Given the description of an element on the screen output the (x, y) to click on. 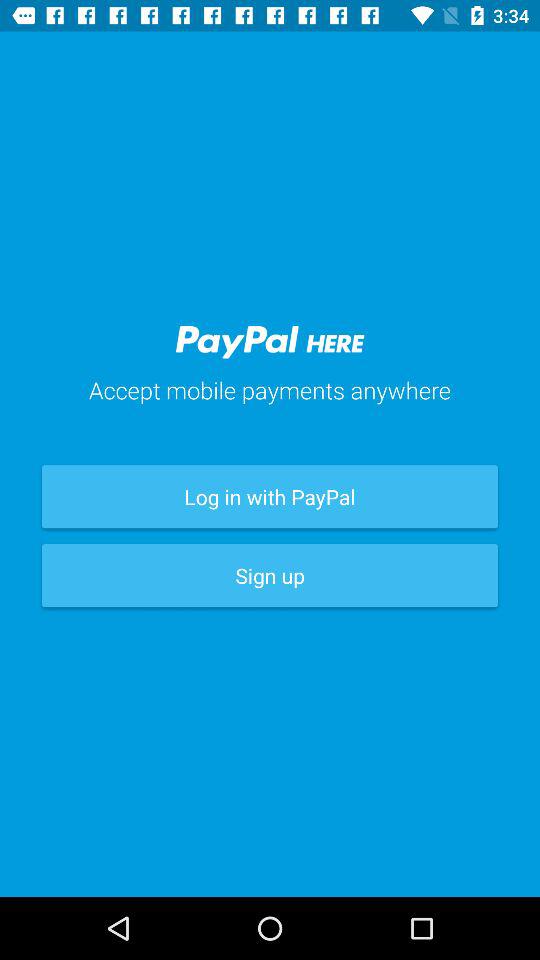
choose the icon above sign up item (269, 496)
